Given the description of an element on the screen output the (x, y) to click on. 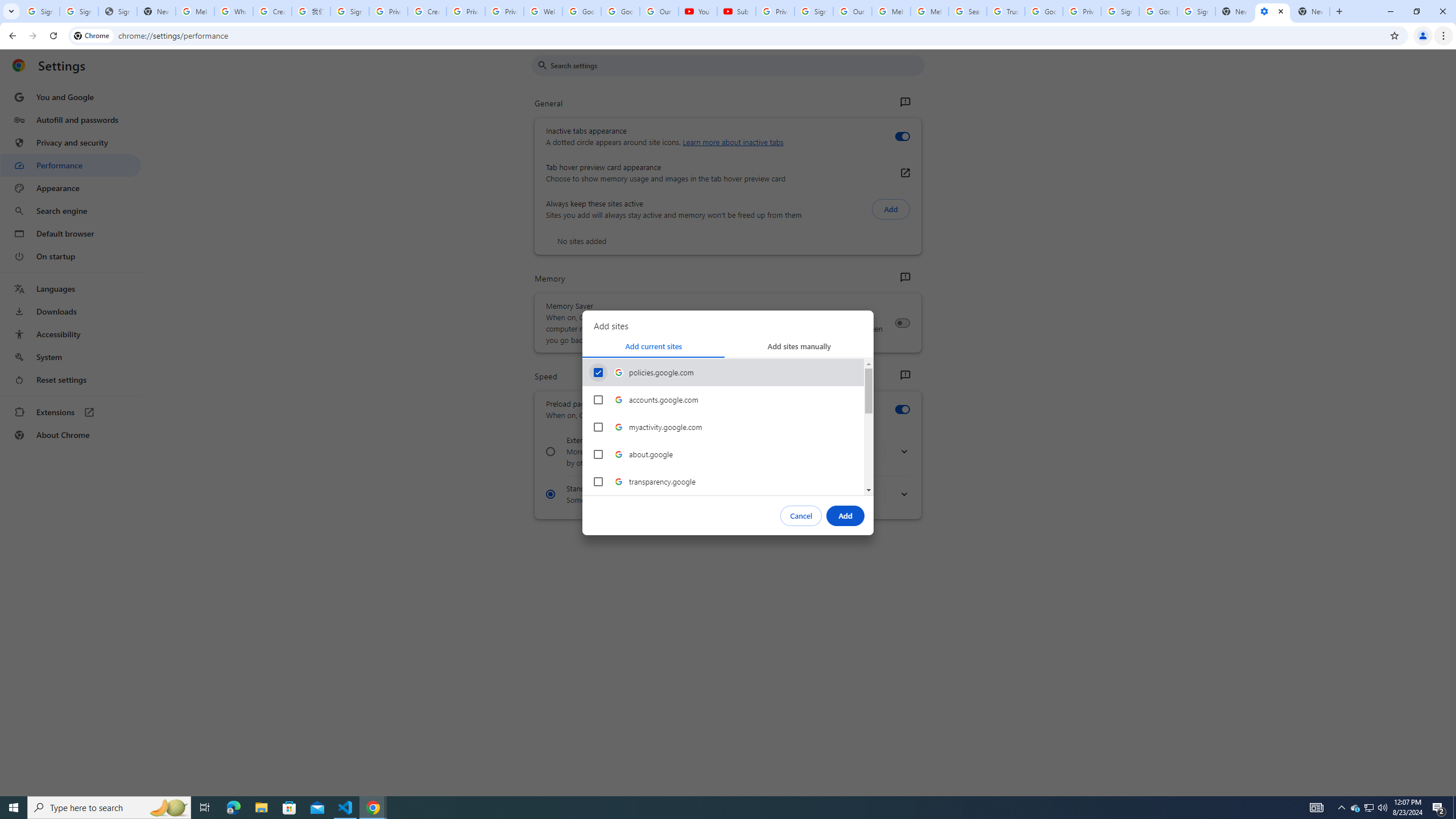
Add current sites (653, 345)
Sign in - Google Accounts (349, 11)
Sign in - Google Accounts (79, 11)
Create your Google Account (427, 11)
New Tab (1311, 11)
Subscriptions - YouTube (736, 11)
Create your Google Account (272, 11)
Add sites manually (799, 345)
